Given the description of an element on the screen output the (x, y) to click on. 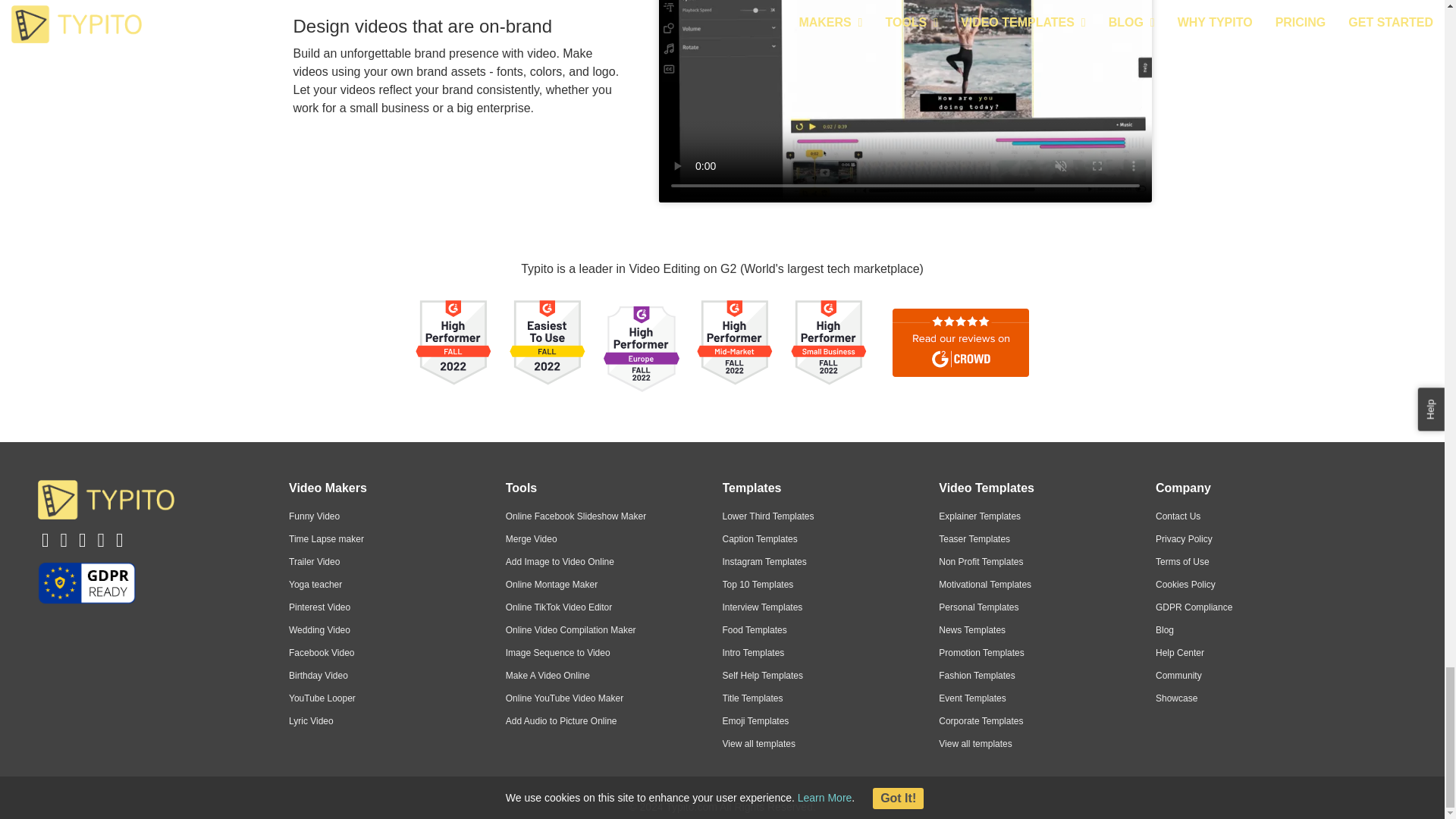
Typito rated 5 star by users in Video Editing (956, 353)
Typito recognized in Video Editing based on user reviews (641, 348)
